Given the description of an element on the screen output the (x, y) to click on. 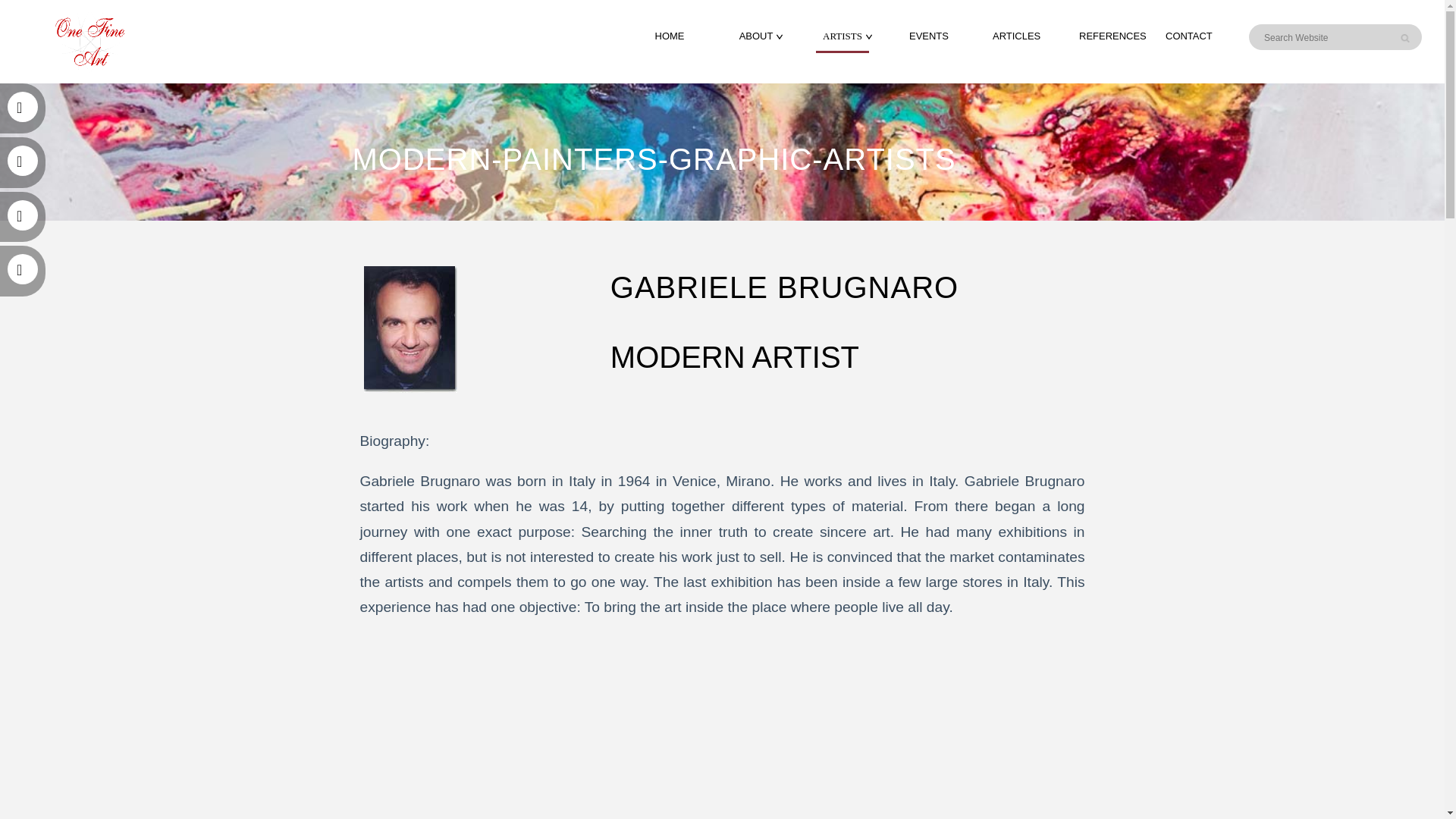
HOME (669, 35)
ABOUT (756, 35)
EVENTS (928, 35)
REFERENCES (1112, 35)
CONTACT (1189, 35)
ARTISTS (841, 35)
ARTICLES (1016, 35)
